Given the description of an element on the screen output the (x, y) to click on. 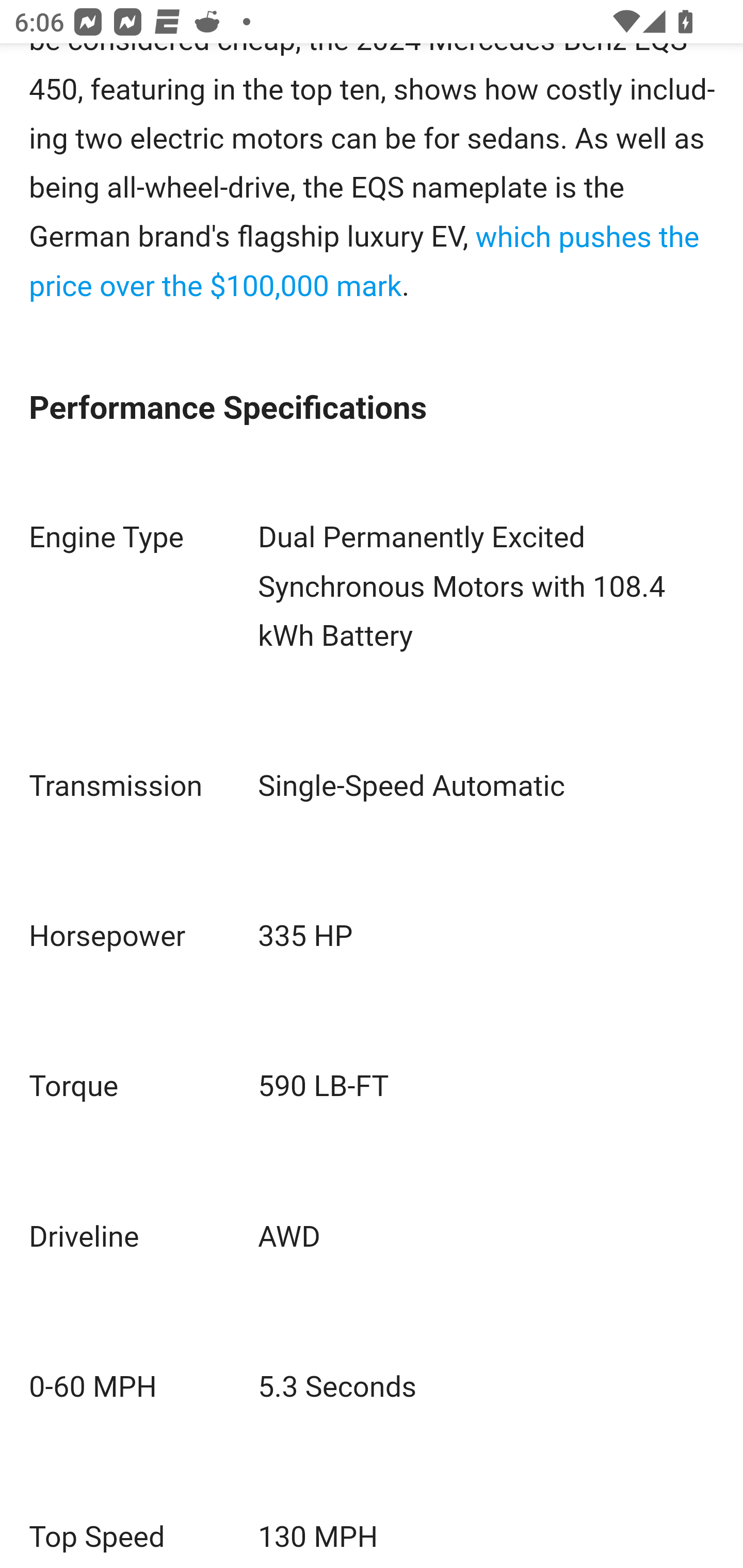
which pushes the price over the $100,000 mark (364, 262)
